Given the description of an element on the screen output the (x, y) to click on. 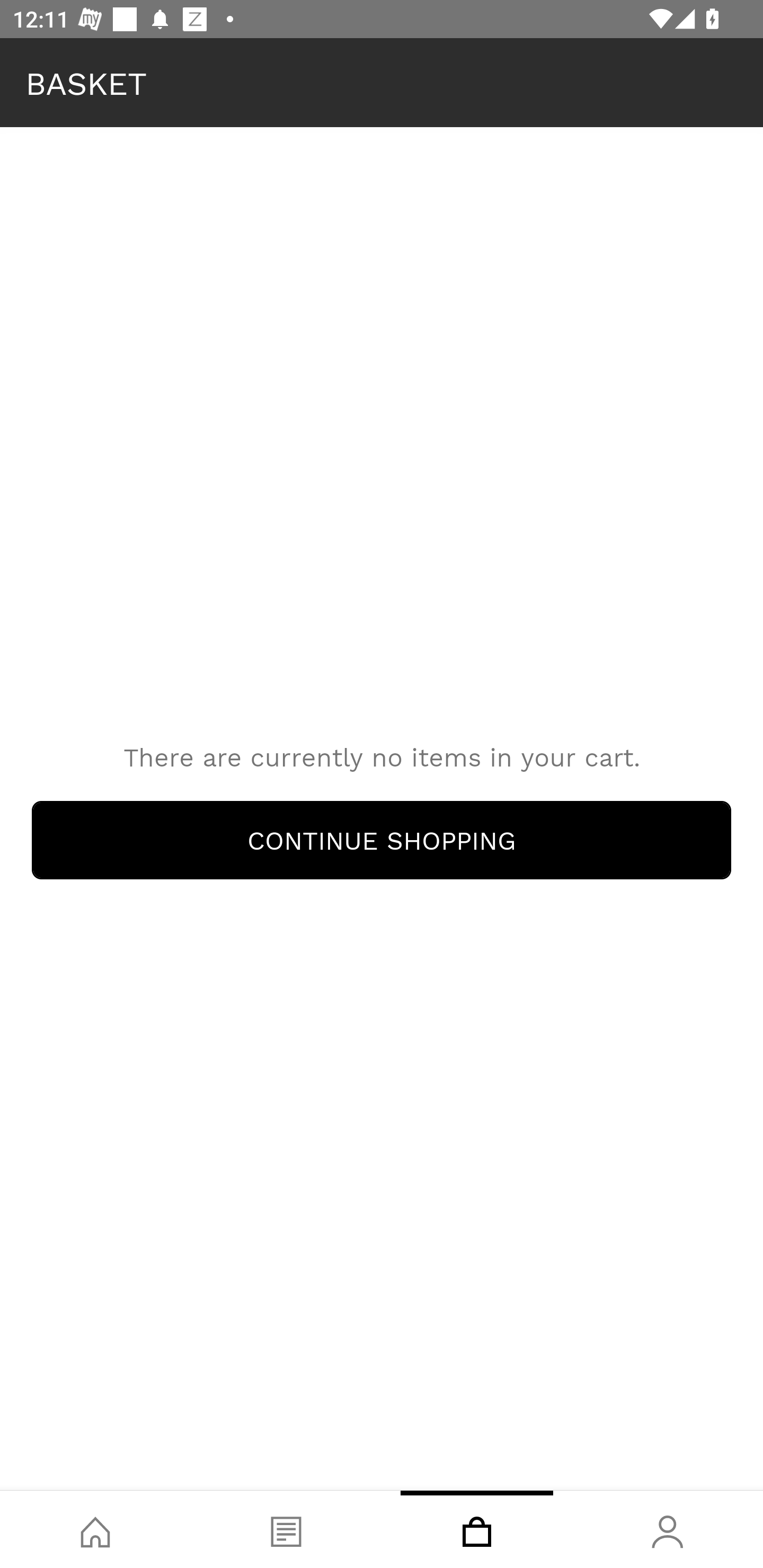
Continue Shopping CONTINUE SHOPPING (381, 840)
Shop, tab, 1 of 4 (95, 1529)
Blog, tab, 2 of 4 (285, 1529)
Basket, tab, 3 of 4 (476, 1529)
Account, tab, 4 of 4 (667, 1529)
